Given the description of an element on the screen output the (x, y) to click on. 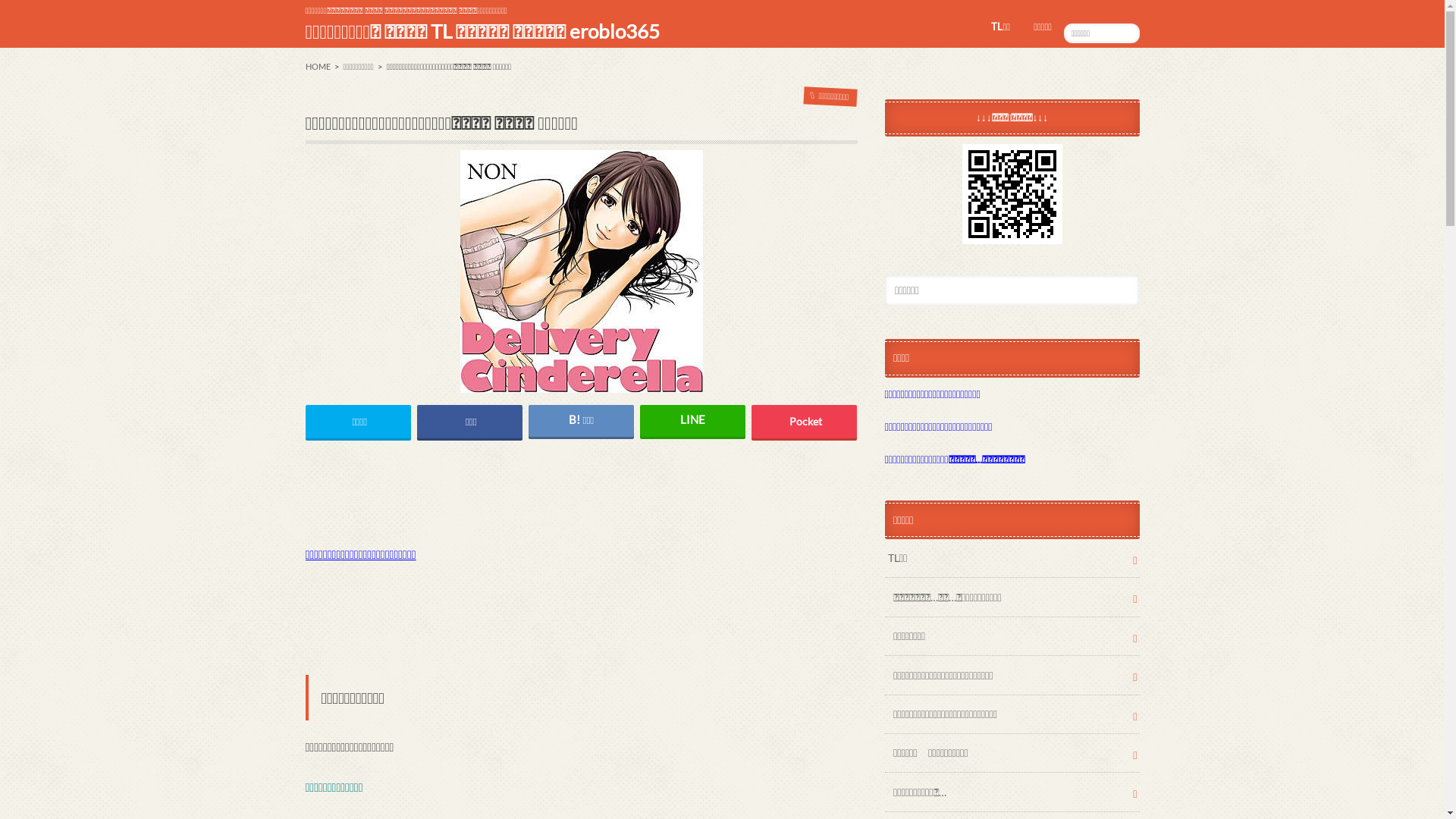
HOME Element type: text (316, 66)
Pocket Element type: text (804, 421)
